Given the description of an element on the screen output the (x, y) to click on. 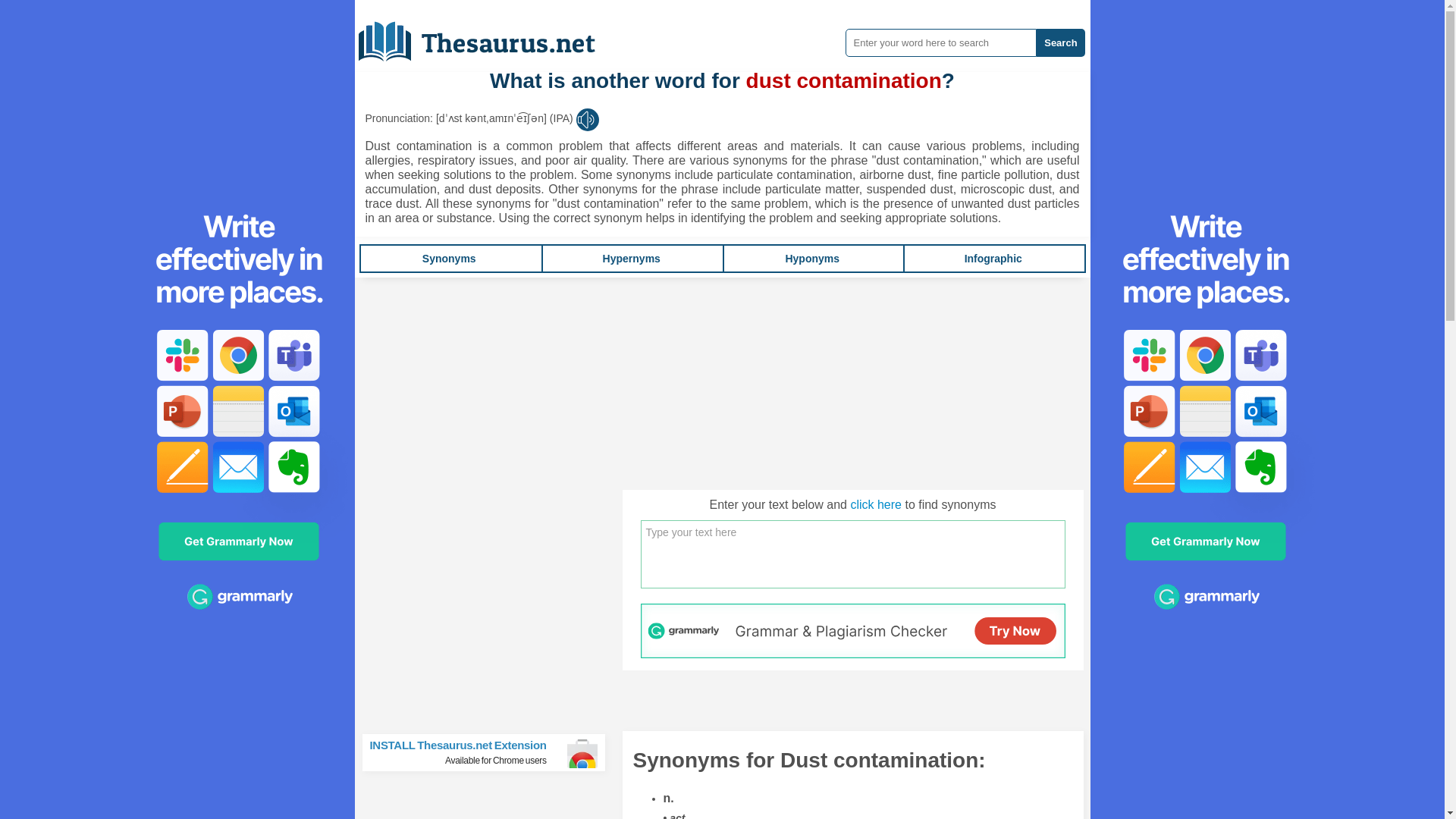
click here (875, 504)
Hypernyms (489, 752)
Infographic (631, 258)
Hyponyms (992, 258)
Infographic (812, 258)
Thesaurus.net (992, 258)
Synonyms (487, 35)
Synonyms (449, 258)
Search (449, 258)
Hyponyms (1060, 42)
Hypernyms (812, 258)
